Given the description of an element on the screen output the (x, y) to click on. 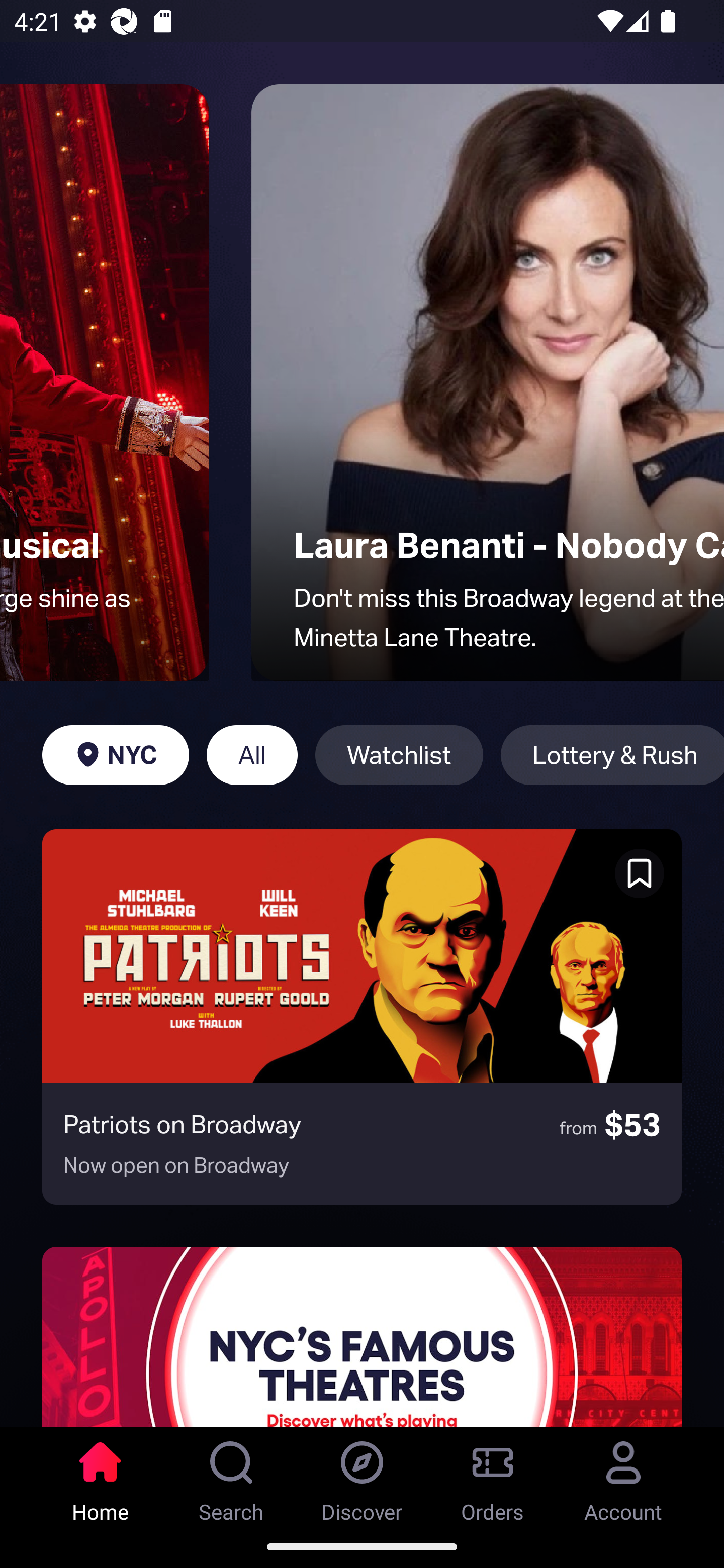
NYC (114, 754)
All (251, 754)
Watchlist (398, 754)
Lottery & Rush (612, 754)
Patriots on Broadway from $53 Now open on Broadway (361, 1016)
Search (230, 1475)
Discover (361, 1475)
Orders (492, 1475)
Account (623, 1475)
